Given the description of an element on the screen output the (x, y) to click on. 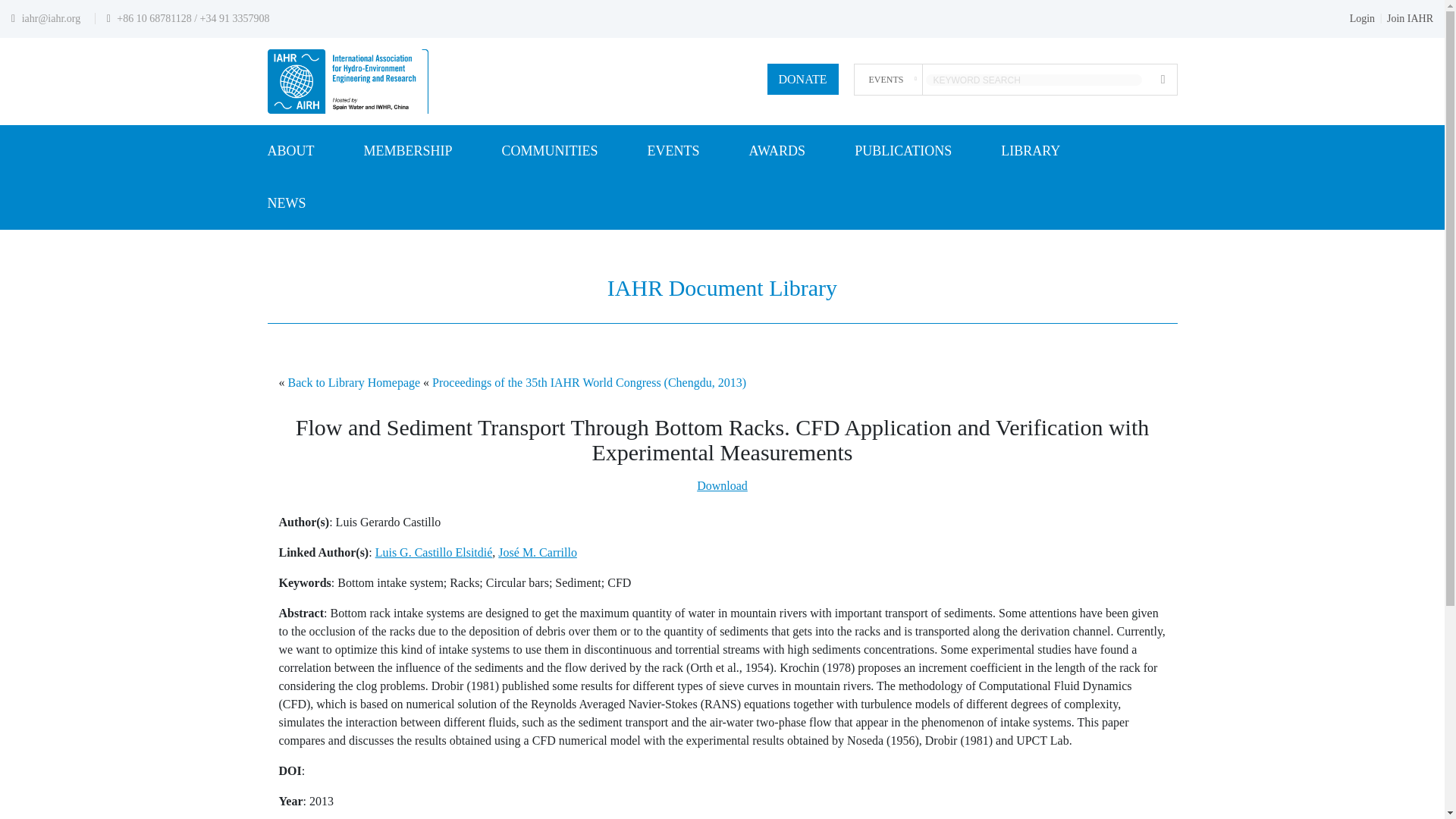
Join IAHR (1409, 18)
EVENTS (673, 151)
ABOUT (290, 151)
AWARDS (777, 151)
MEMBERSHIP (408, 151)
Login (1361, 18)
COMMUNITIES (550, 151)
DONATE (802, 79)
PUBLICATIONS (903, 151)
